Given the description of an element on the screen output the (x, y) to click on. 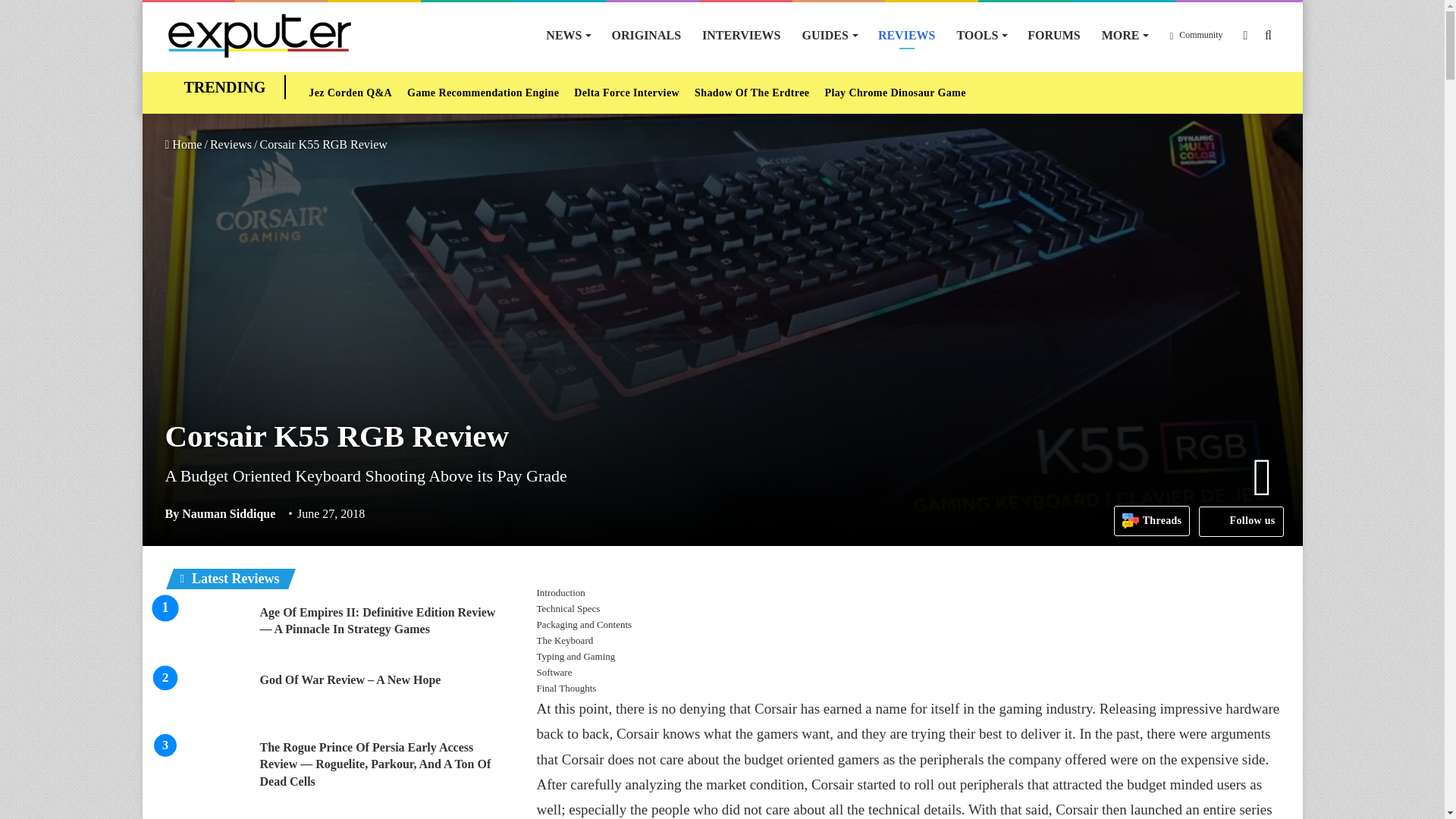
eXputer.com (259, 34)
INTERVIEWS (740, 35)
ORIGINALS (645, 35)
Nauman Siddique (220, 513)
TOOLS (980, 35)
FORUMS (1053, 35)
MORE (1124, 35)
NEWS (567, 35)
REVIEWS (906, 35)
GUIDES (829, 35)
